Given the description of an element on the screen output the (x, y) to click on. 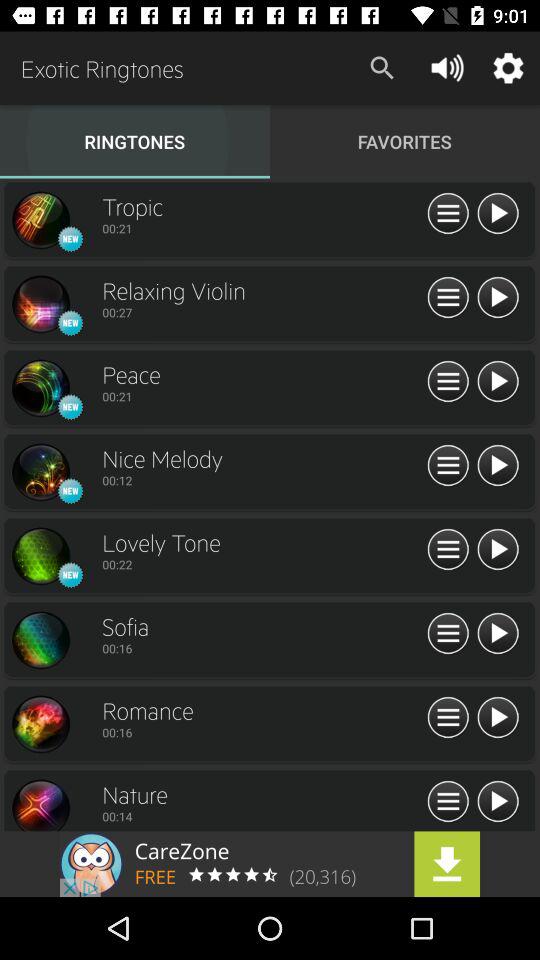
more appsation (447, 801)
